Given the description of an element on the screen output the (x, y) to click on. 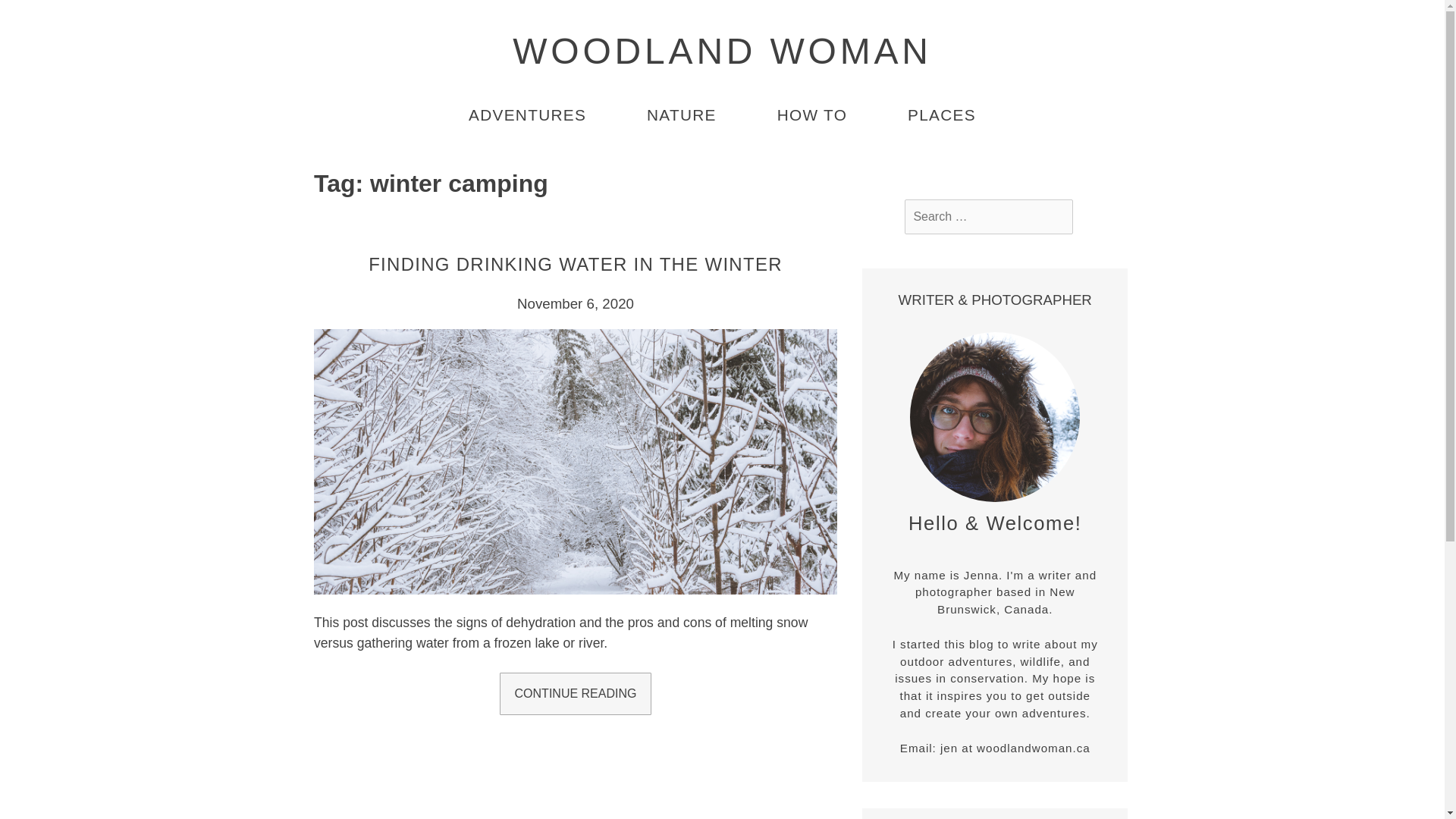
HOW TO (812, 116)
WOODLAND WOMAN (721, 51)
CONTINUE READING (574, 693)
NATURE (681, 116)
ADVENTURES (527, 116)
PLACES (941, 116)
FINDING DRINKING WATER IN THE WINTER (575, 263)
